Given the description of an element on the screen output the (x, y) to click on. 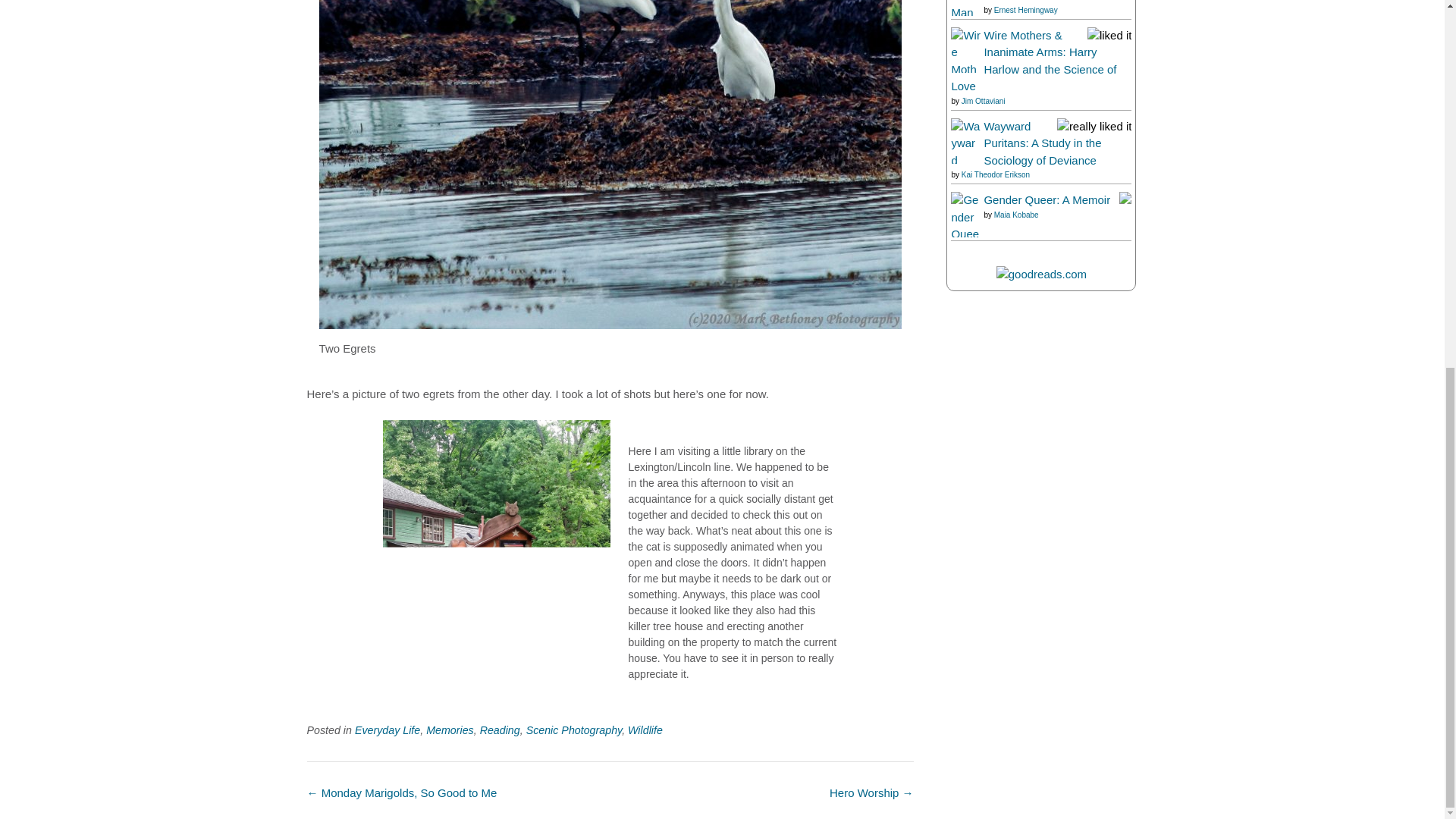
Kai Theodor Erikson (994, 174)
Memories (450, 729)
The Old Man and the Sea (1016, 0)
Wayward Puritans: A Study in the Sociology of Deviance (1042, 143)
Everyday Life (387, 729)
really liked it (1094, 125)
Wayward Puritans: A Study in the Sociology of Deviance (964, 330)
Reading (499, 729)
The Old Man and the Sea (964, 62)
Ernest Hemingway (1026, 9)
